Given the description of an element on the screen output the (x, y) to click on. 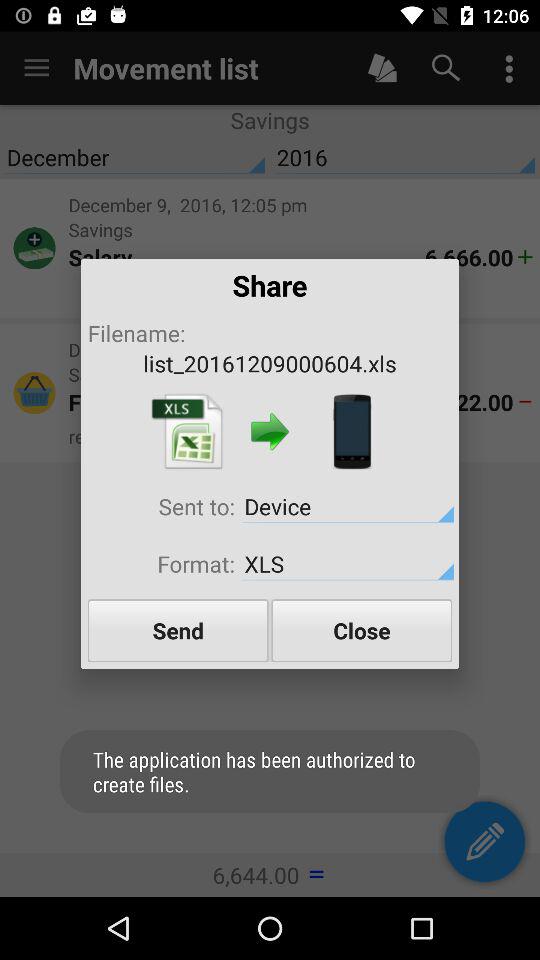
share it file (352, 431)
